Given the description of an element on the screen output the (x, y) to click on. 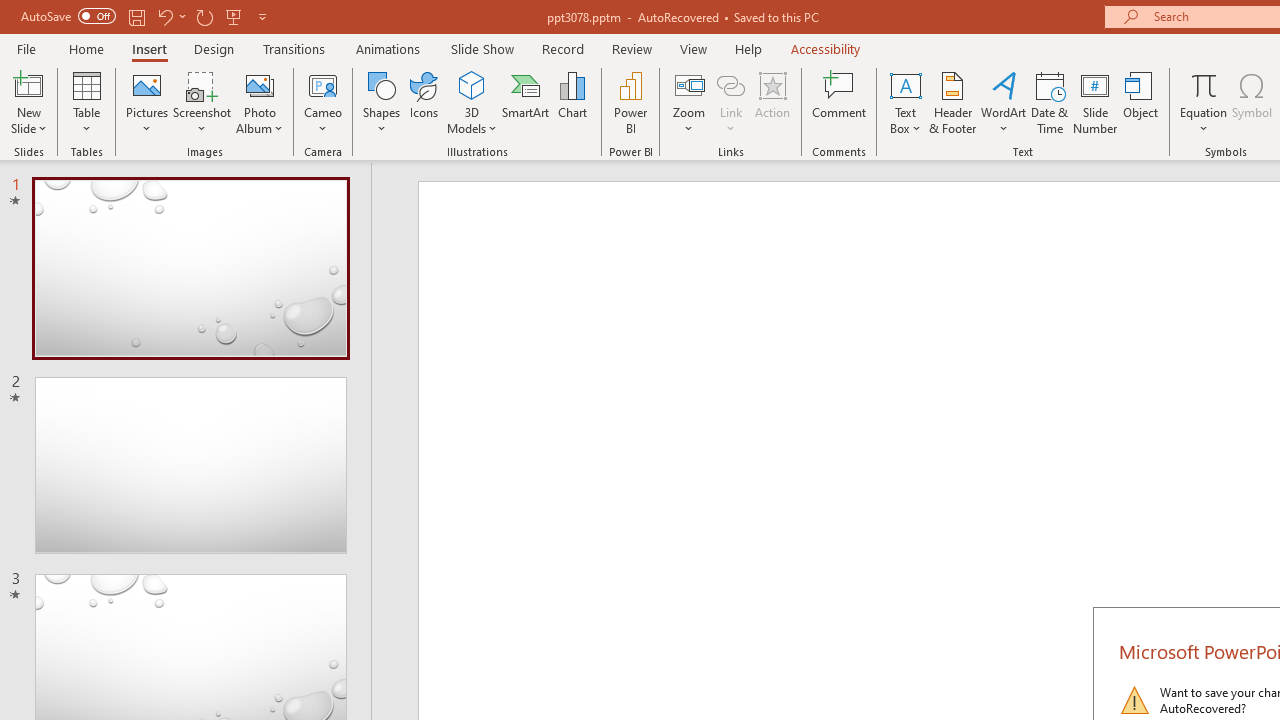
Icons (424, 102)
3D Models (472, 102)
Object... (1141, 102)
SmartArt... (525, 102)
Date & Time... (1050, 102)
3D Models (472, 84)
